Given the description of an element on the screen output the (x, y) to click on. 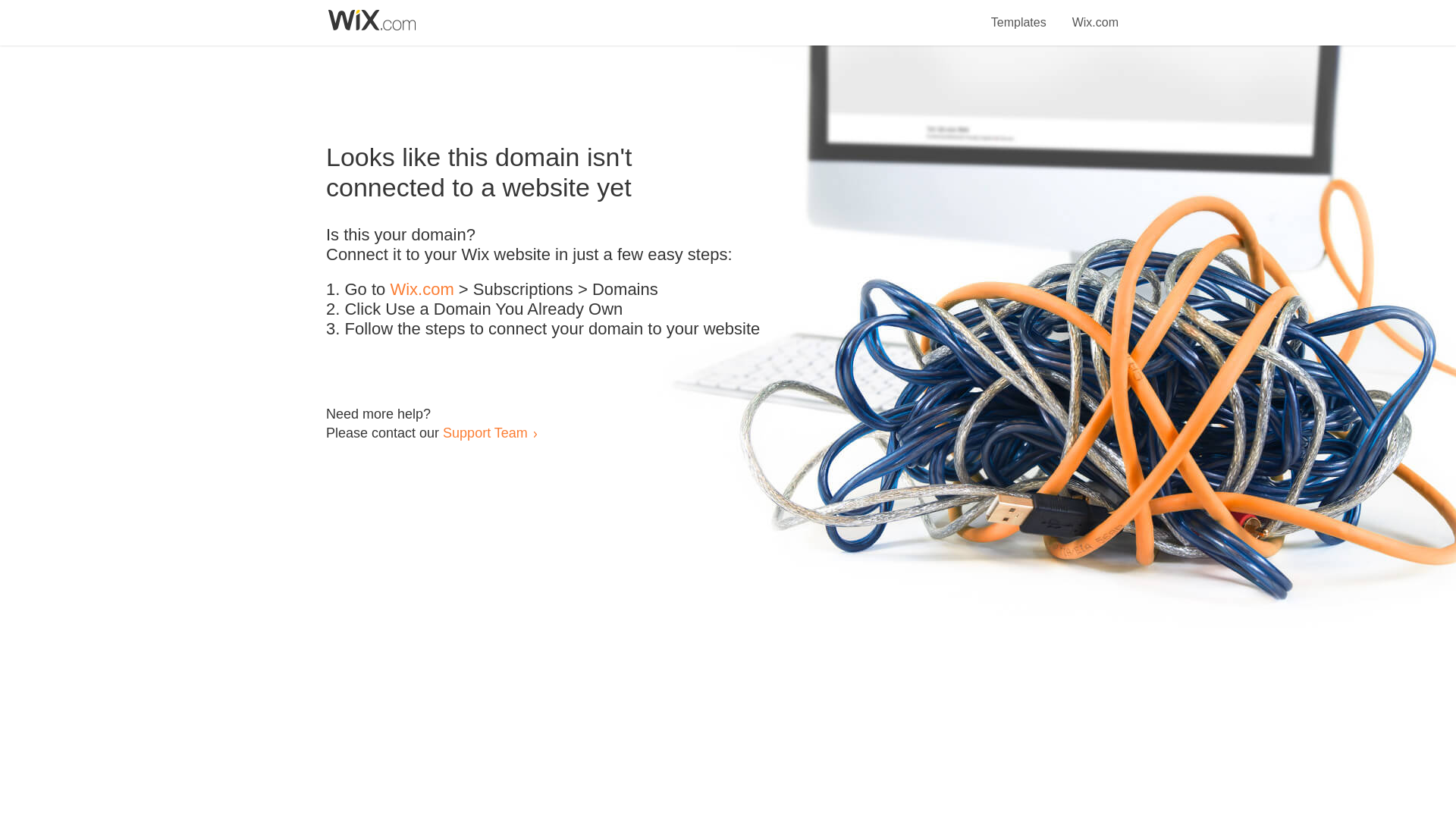
Templates (1018, 14)
Support Team (484, 432)
Wix.com (421, 289)
Wix.com (1095, 14)
